Given the description of an element on the screen output the (x, y) to click on. 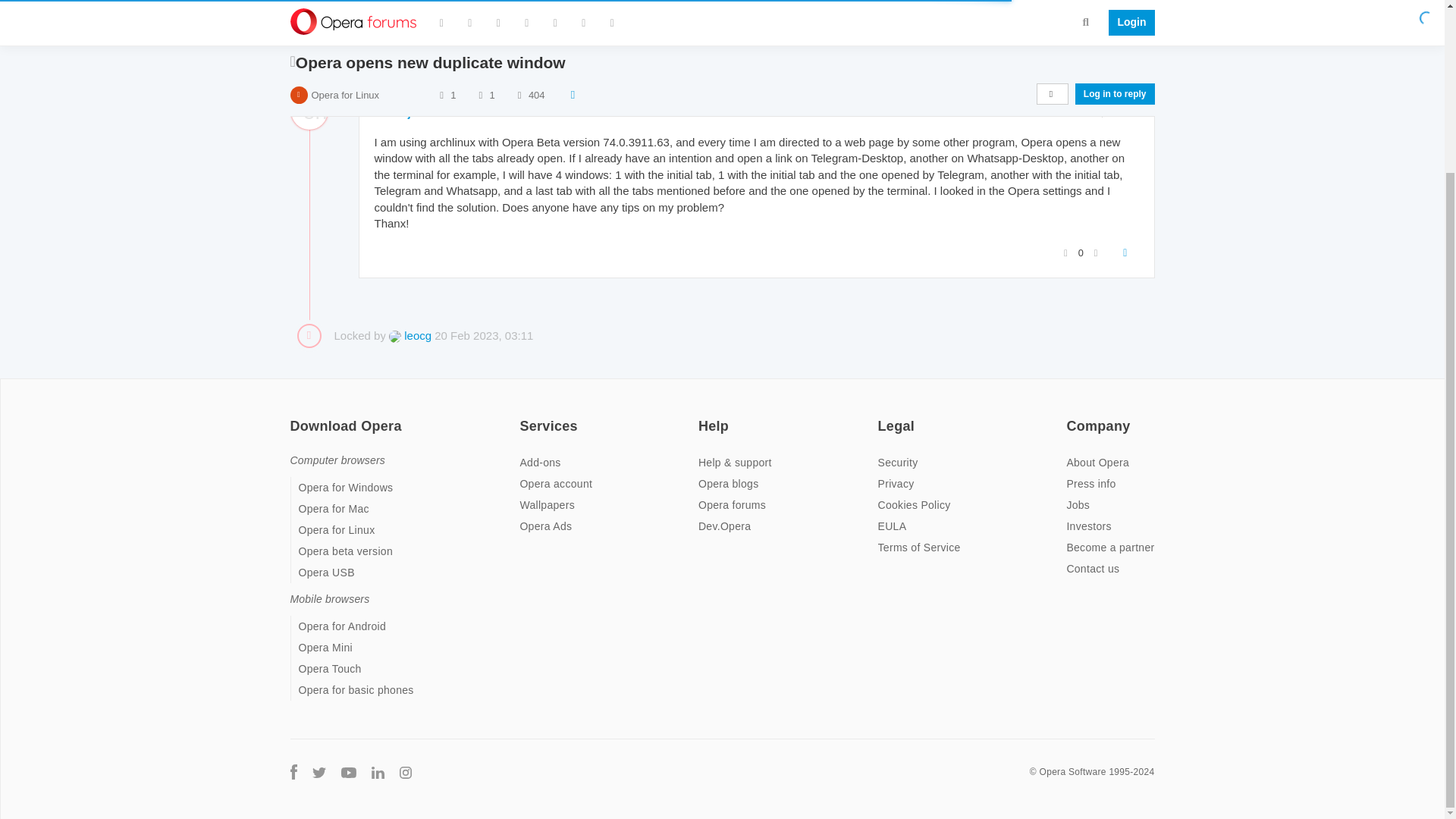
Log in to reply (1114, 55)
on (881, 415)
27 Feb 2021, 00:25 (1088, 112)
on (1070, 415)
on (702, 415)
 leocg (409, 335)
on (523, 415)
on (293, 415)
Posts (480, 56)
Opera for Linux (344, 56)
